Given the description of an element on the screen output the (x, y) to click on. 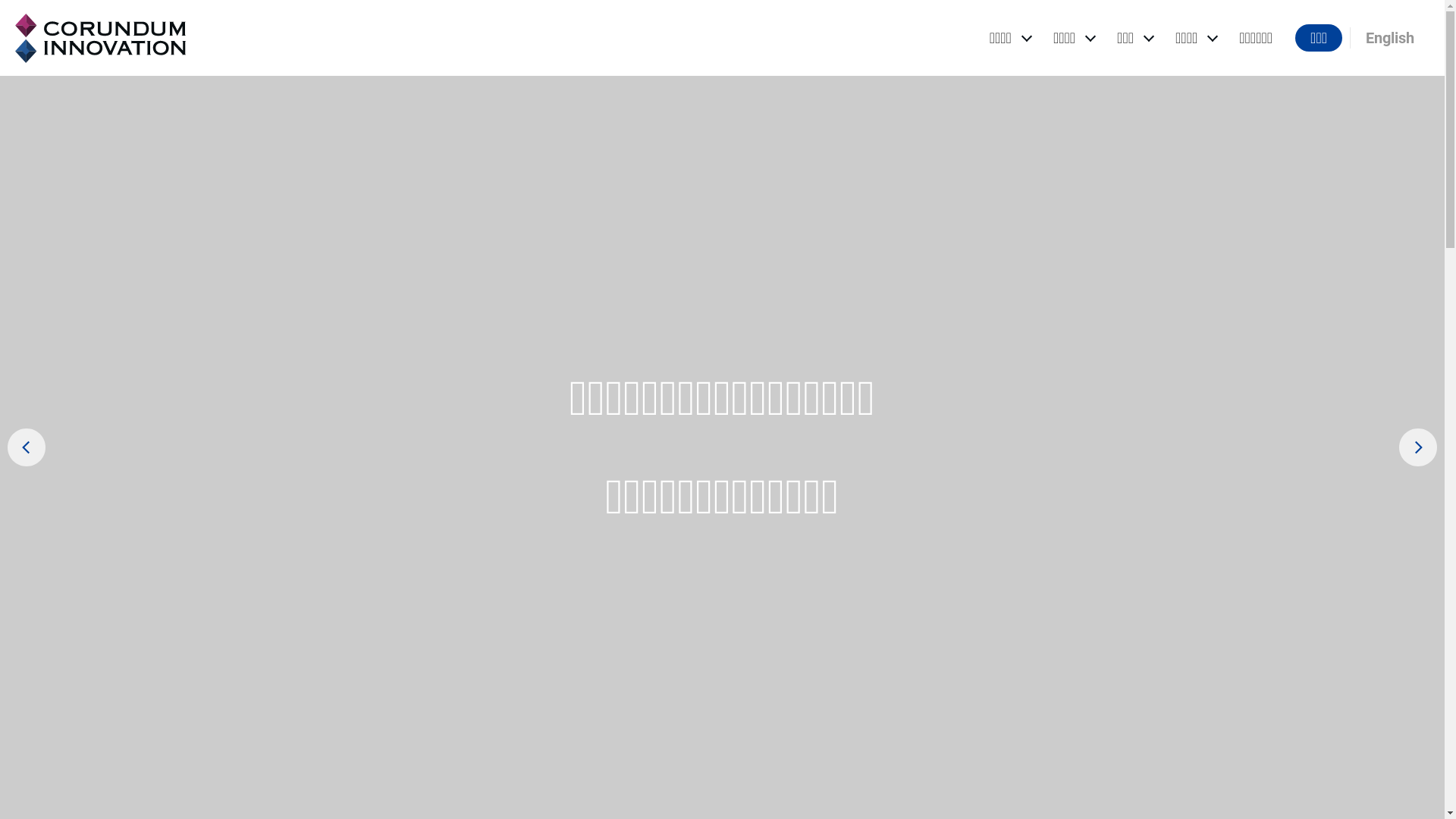
English Element type: text (1389, 37)
